Given the description of an element on the screen output the (x, y) to click on. 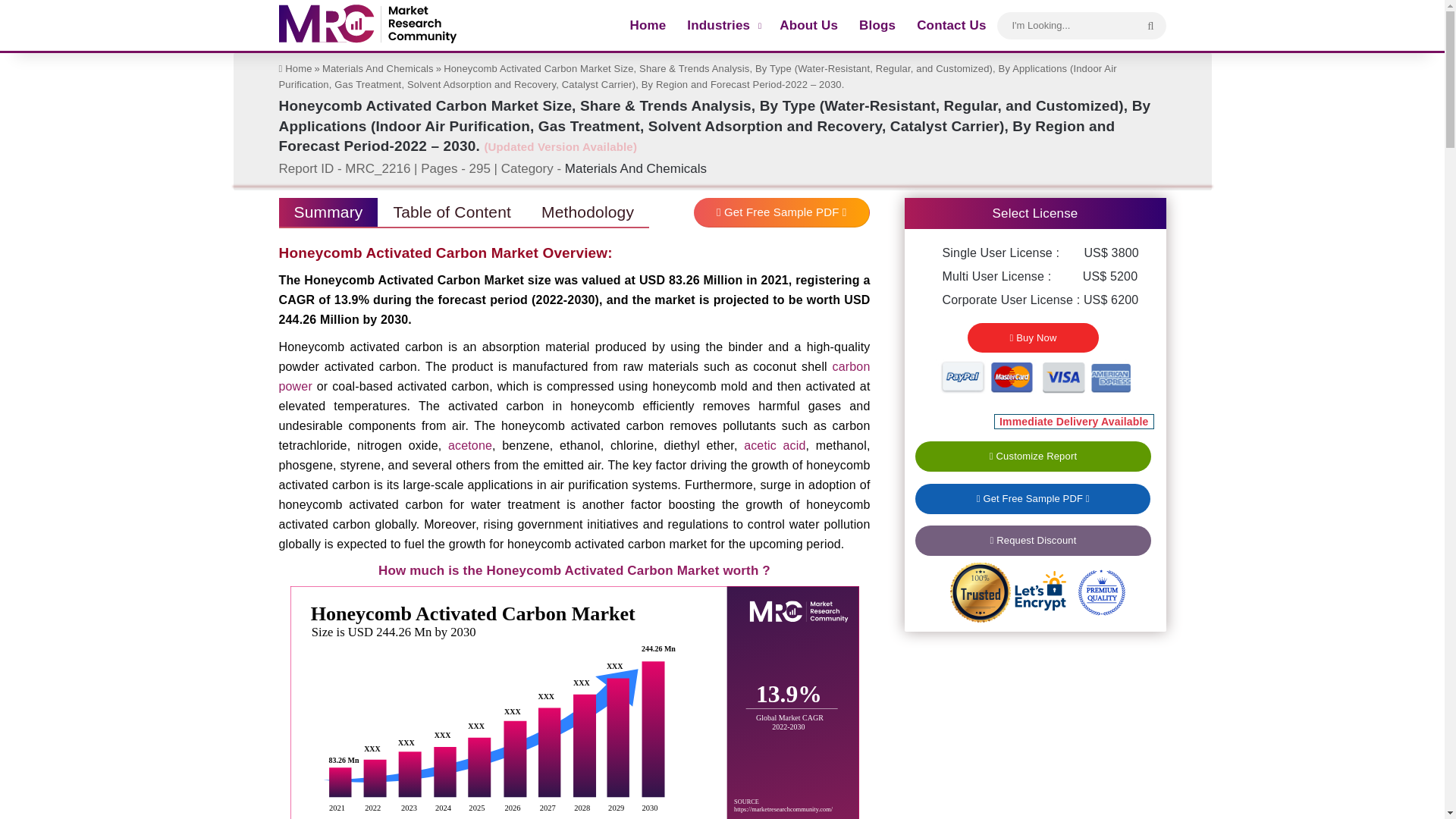
Blogs (876, 25)
Market Research Community (368, 25)
Materials And Chemicals (635, 168)
Materials And Chemicals (377, 68)
I'm Looking... (1080, 25)
Table of Content (451, 213)
Industries (722, 25)
Methodology (587, 213)
acetic acid (774, 445)
Contact Us (950, 25)
Get Free Sample PDF (781, 208)
Home (296, 68)
I'm Looking... (1150, 25)
carbon power (574, 376)
Summary (328, 213)
